Given the description of an element on the screen output the (x, y) to click on. 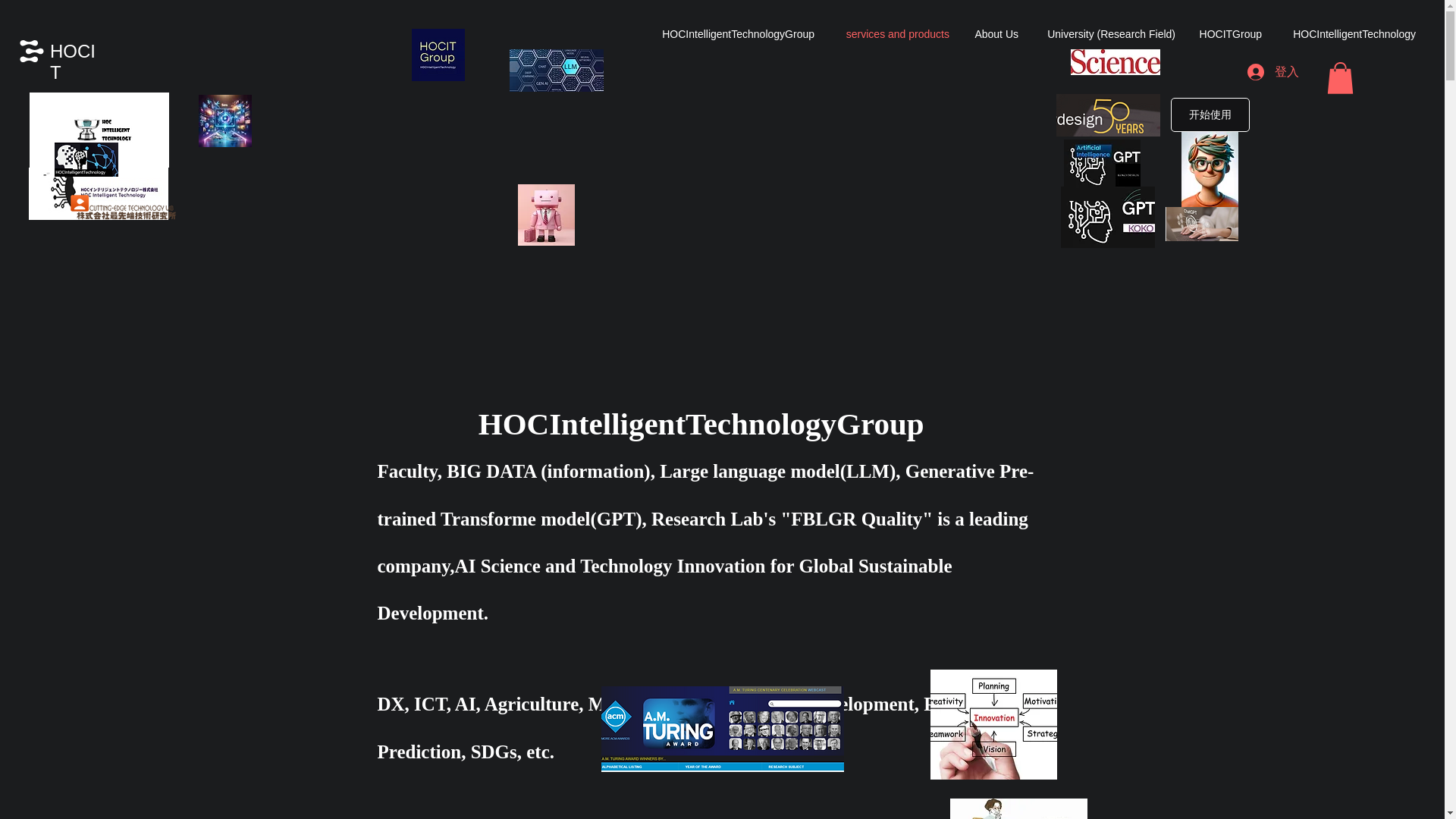
services and products (892, 33)
Screenshot 2023-9-14 at 12.59 AM.png (721, 729)
HOCIT (72, 61)
HOCIntelligentTechnologyGroup (732, 33)
About Us (994, 33)
